Given the description of an element on the screen output the (x, y) to click on. 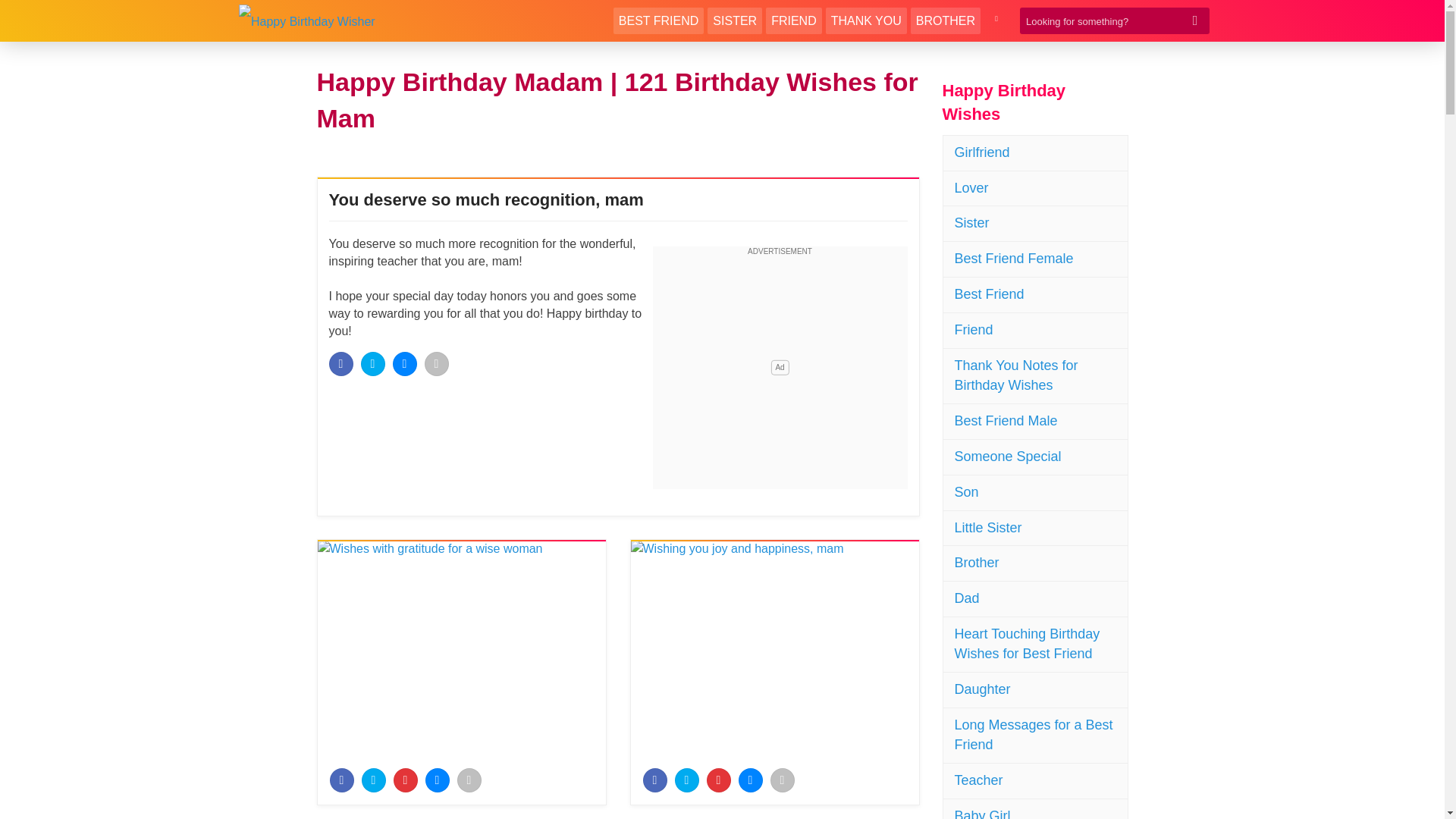
Tweetar (373, 780)
Tweet (373, 363)
BEST FRIEND (658, 20)
THANK YOU (866, 20)
Email (468, 780)
You deserve so much recognition, mam (486, 199)
BROTHER (945, 20)
SISTER (734, 20)
Tweetar (686, 780)
Email (436, 363)
FRIEND (793, 20)
